Given the description of an element on the screen output the (x, y) to click on. 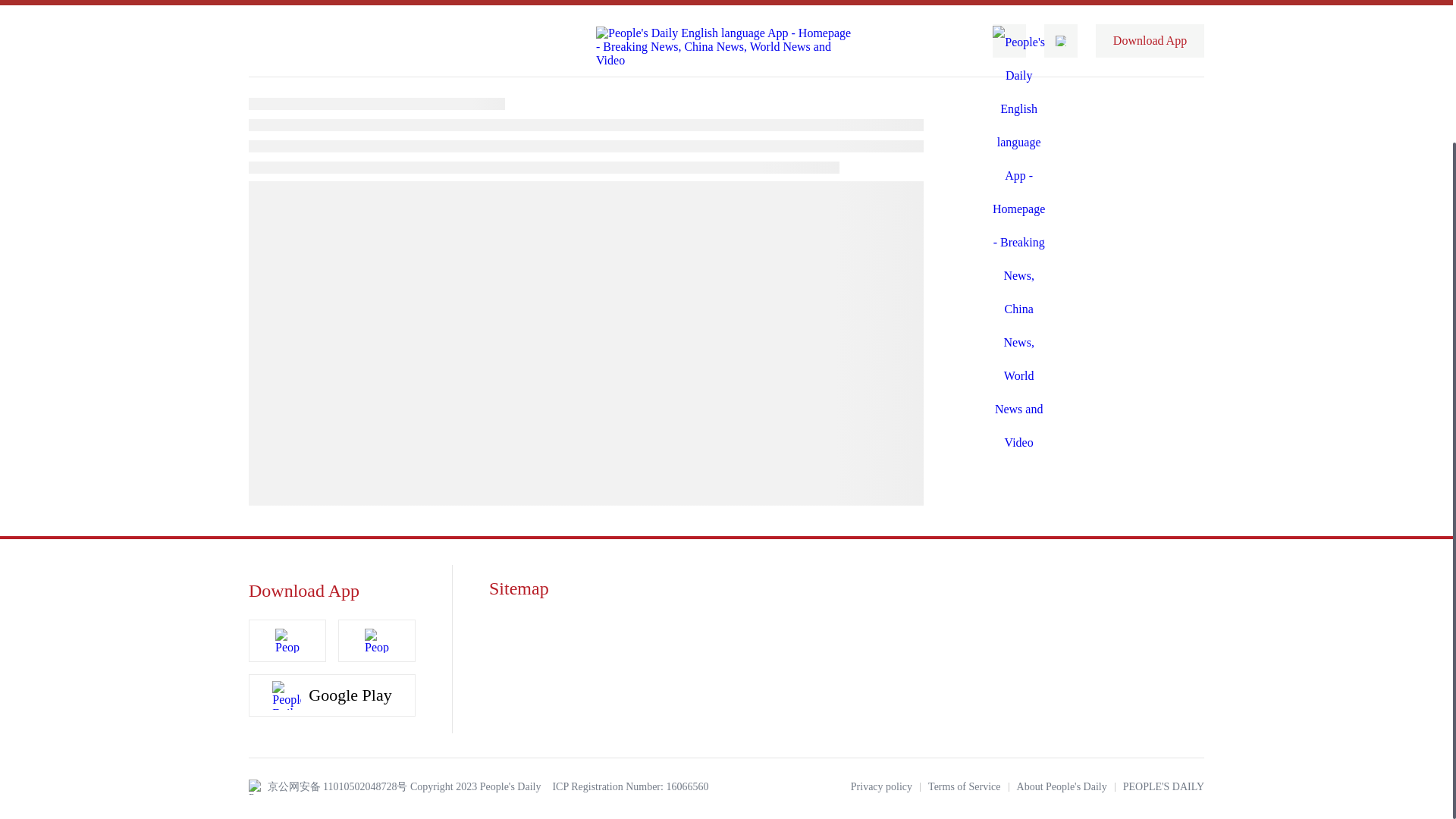
Privacy policy (881, 787)
PEOPLE'S DAILY (1163, 787)
ICP Registration Number: 16066560 (629, 786)
Terms of Service (964, 787)
About People's Daily (1061, 787)
Google Play (331, 695)
